Given the description of an element on the screen output the (x, y) to click on. 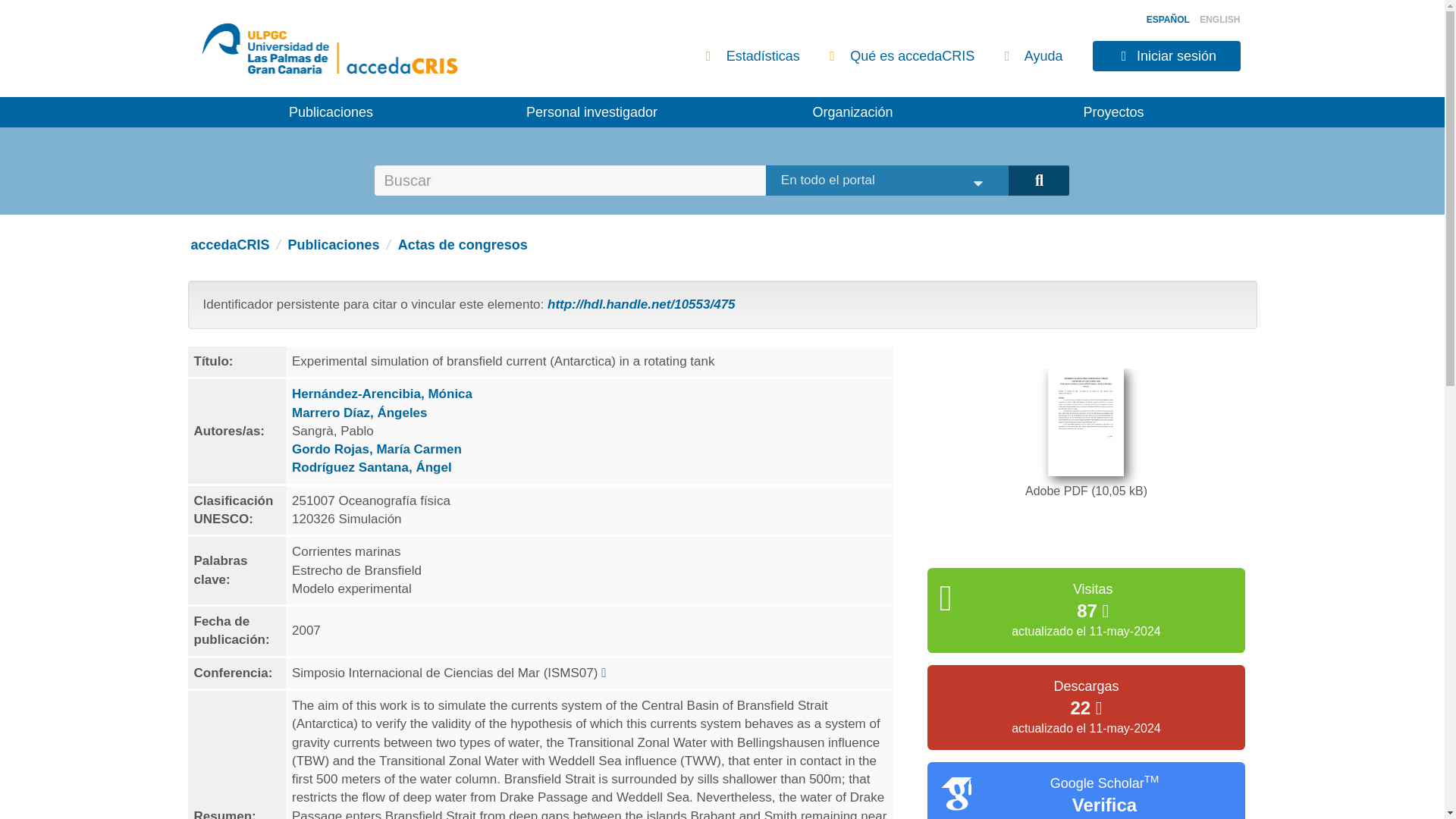
87 (1092, 612)
Publicaciones (334, 244)
ENGLISH (1219, 19)
Inicio web institucional de la ULPGC (260, 56)
Publicaciones (330, 112)
Personal investigador (591, 112)
22 (1086, 709)
accedaCRIS (229, 244)
Inicio web Accedacris (403, 56)
Ayuda (1033, 55)
Proyectos (1112, 112)
Actas de congresos (462, 244)
